Given the description of an element on the screen output the (x, y) to click on. 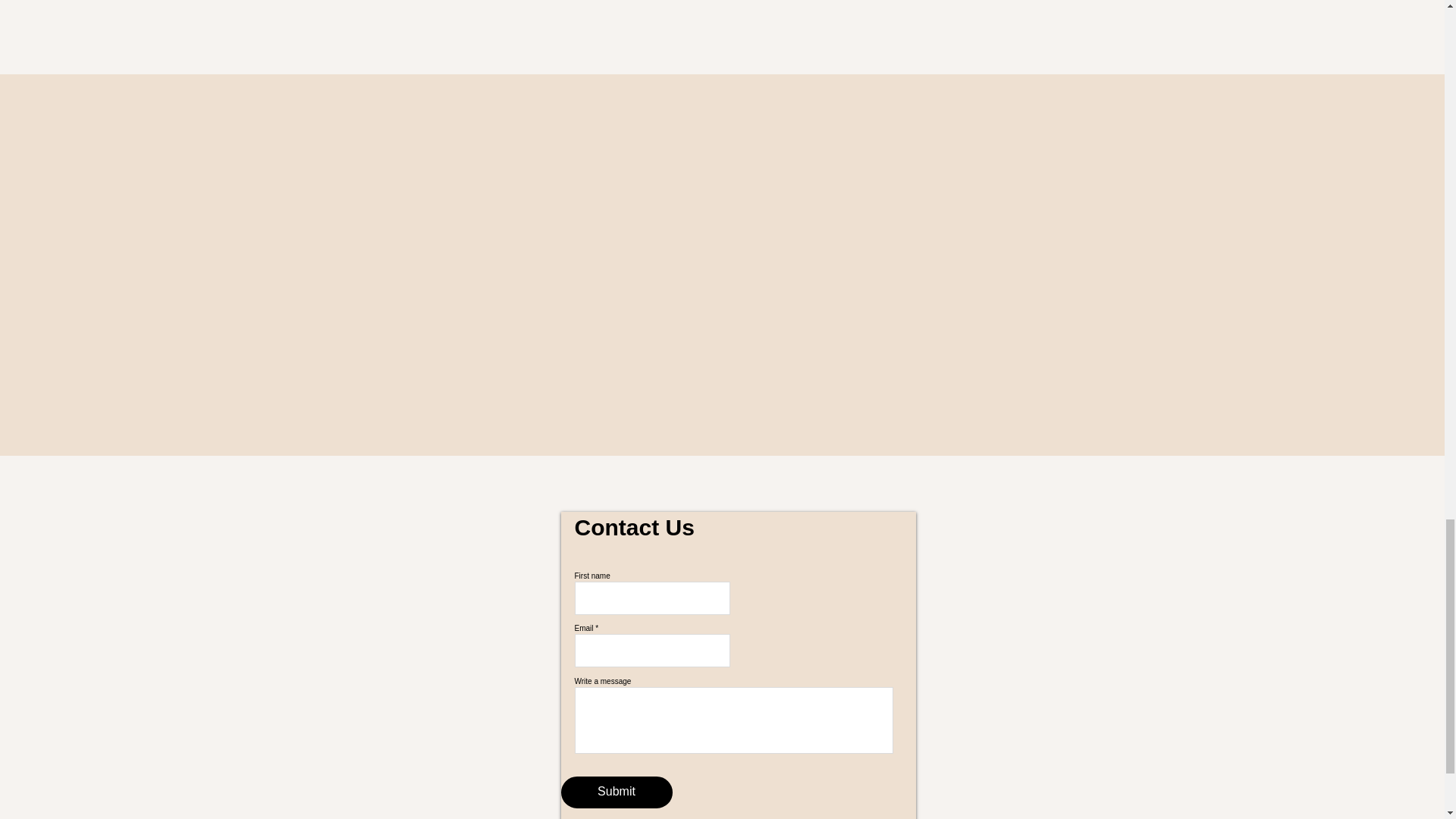
Submit (616, 792)
